Given the description of an element on the screen output the (x, y) to click on. 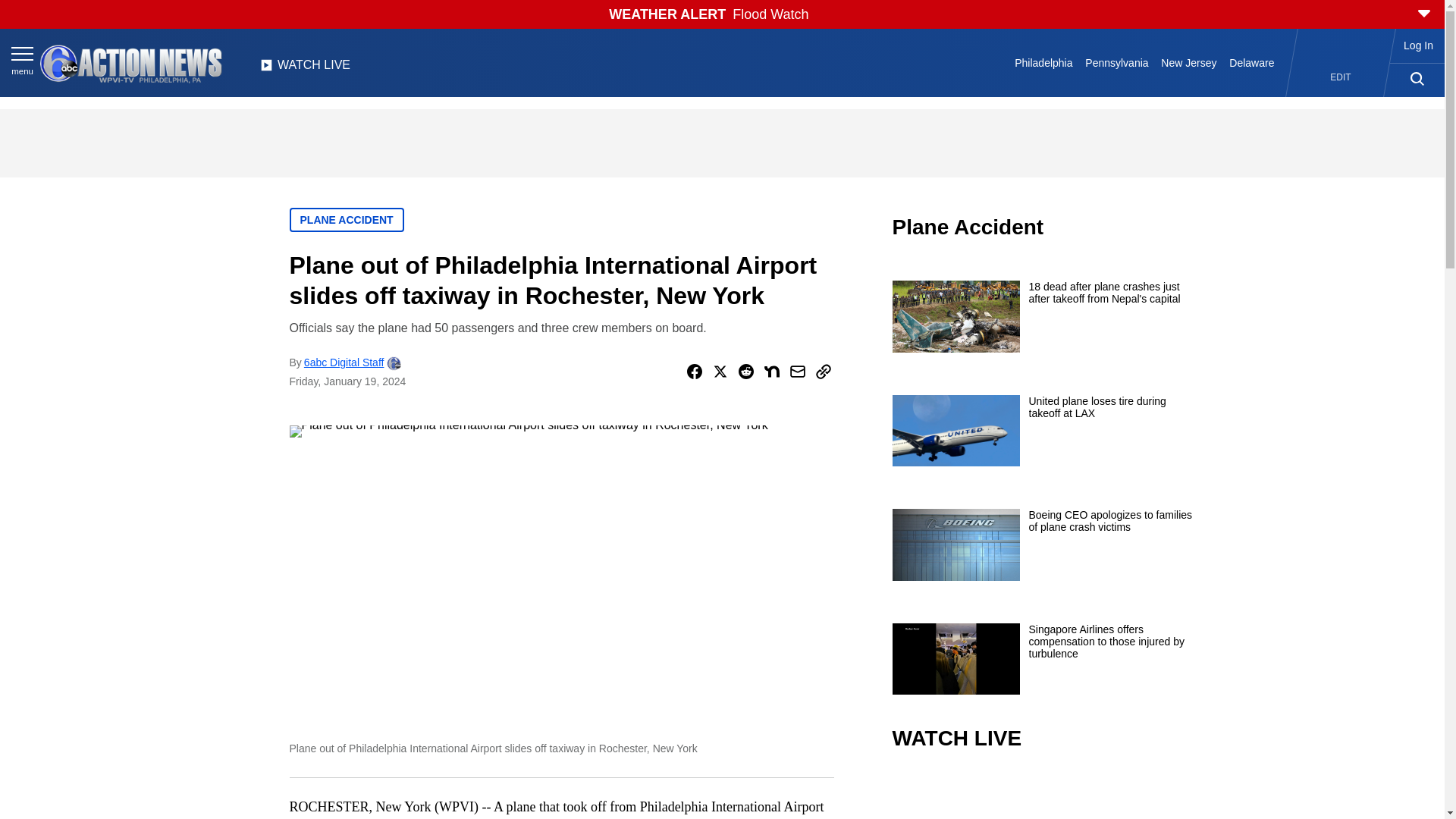
Philadelphia (1043, 62)
EDIT (1340, 77)
Delaware (1252, 62)
Pennsylvania (1116, 62)
WATCH LIVE (305, 69)
video.title (1043, 796)
New Jersey (1188, 62)
